Given the description of an element on the screen output the (x, y) to click on. 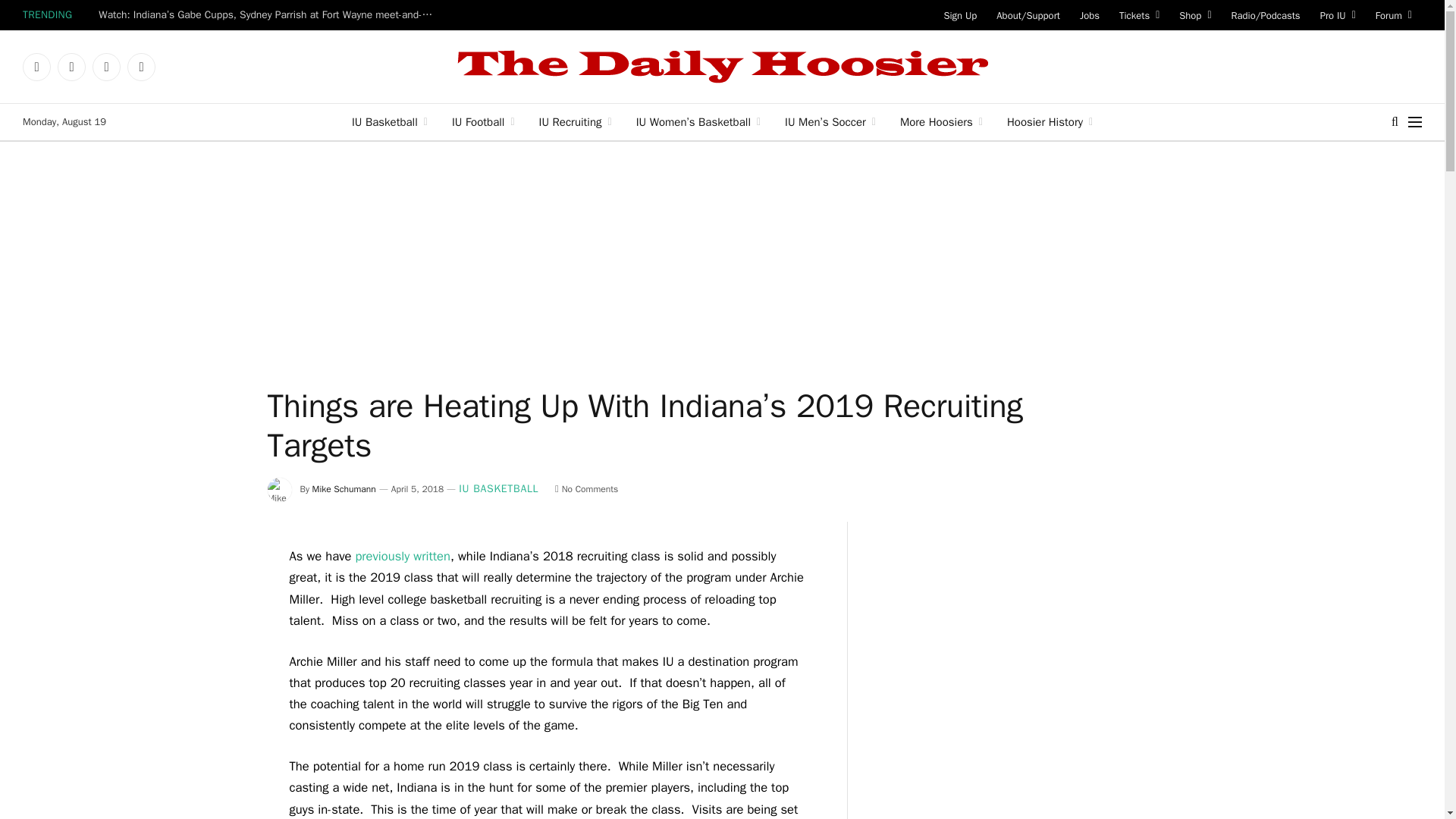
YouTube (141, 67)
Posts by Mike Schumann (344, 489)
The Daily Hoosier (722, 66)
Tickets (1139, 15)
Shop (1195, 15)
Sign Up (960, 15)
Jobs (1089, 15)
Instagram (106, 67)
Forum (1393, 15)
Facebook (36, 67)
